Given the description of an element on the screen output the (x, y) to click on. 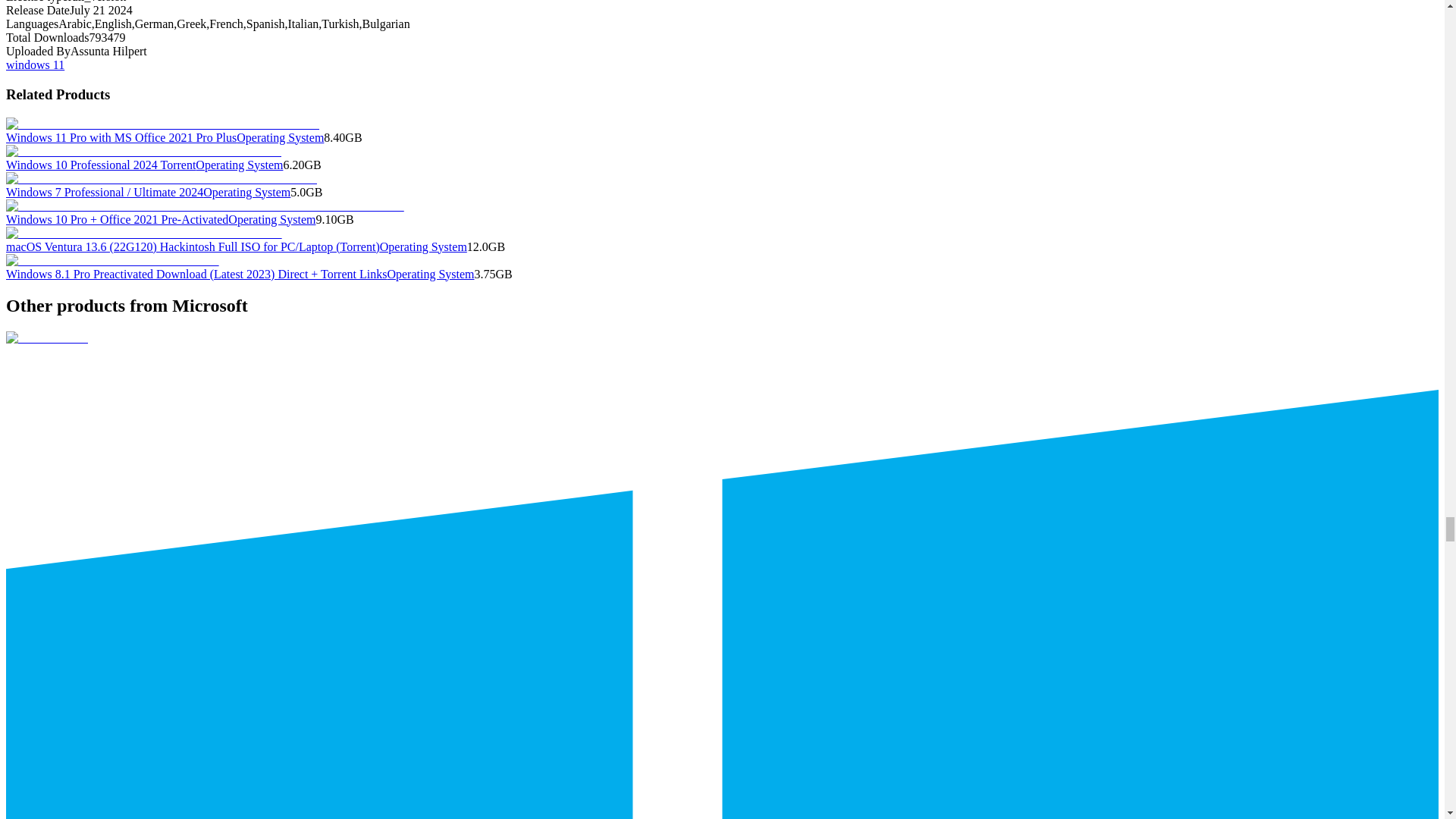
windows 11 (34, 64)
Operating System (246, 192)
Operating System (238, 164)
Operating System (279, 137)
Windows 11 Pro with MS Office 2021 Pro Plus (120, 137)
Windows 10 Professional 2024 Torrent (100, 164)
